Given the description of an element on the screen output the (x, y) to click on. 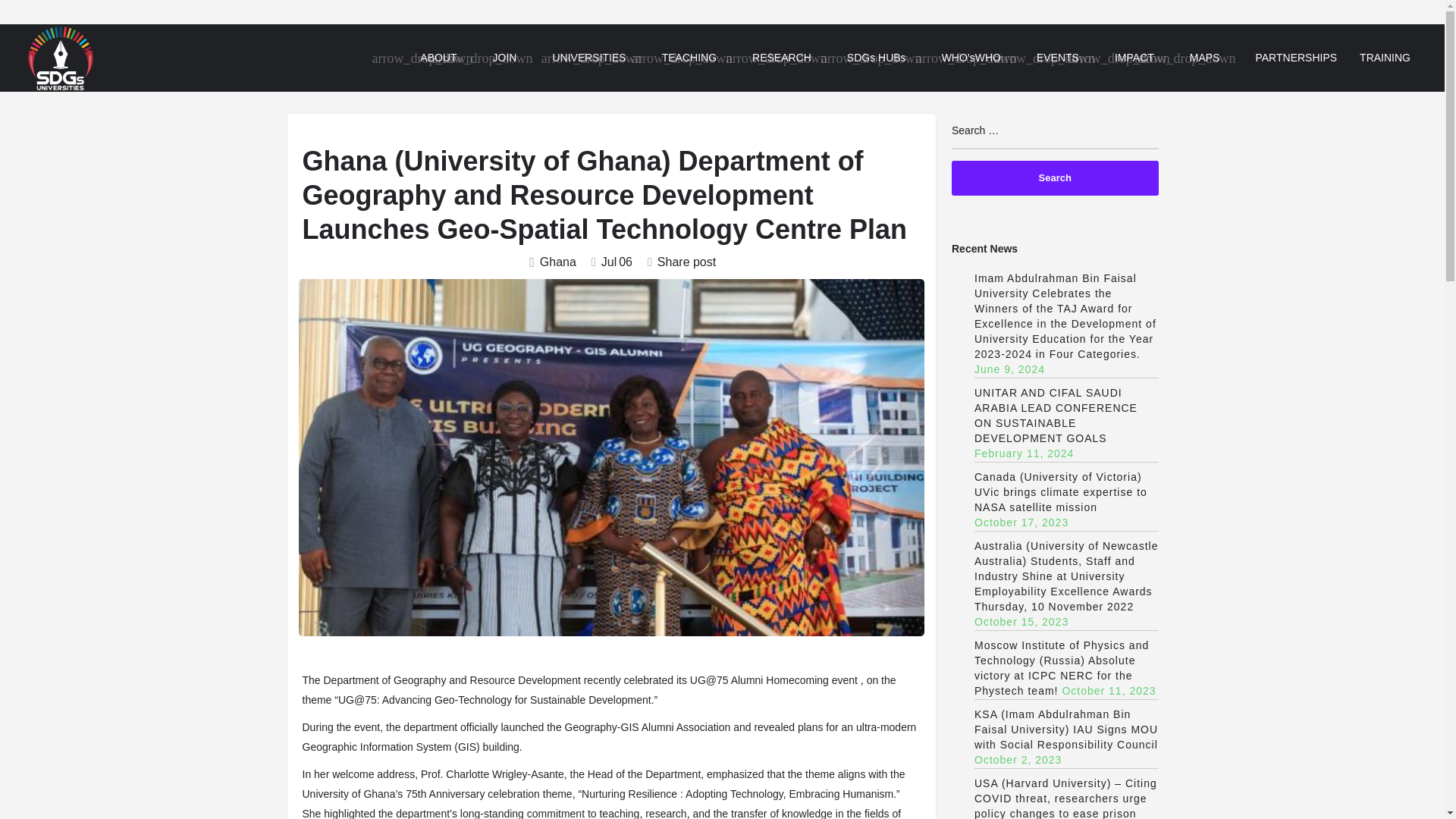
Search (1055, 177)
Search (1055, 177)
JOIN (504, 57)
UNIVERSITIES (588, 57)
ABOUT (438, 57)
